Given the description of an element on the screen output the (x, y) to click on. 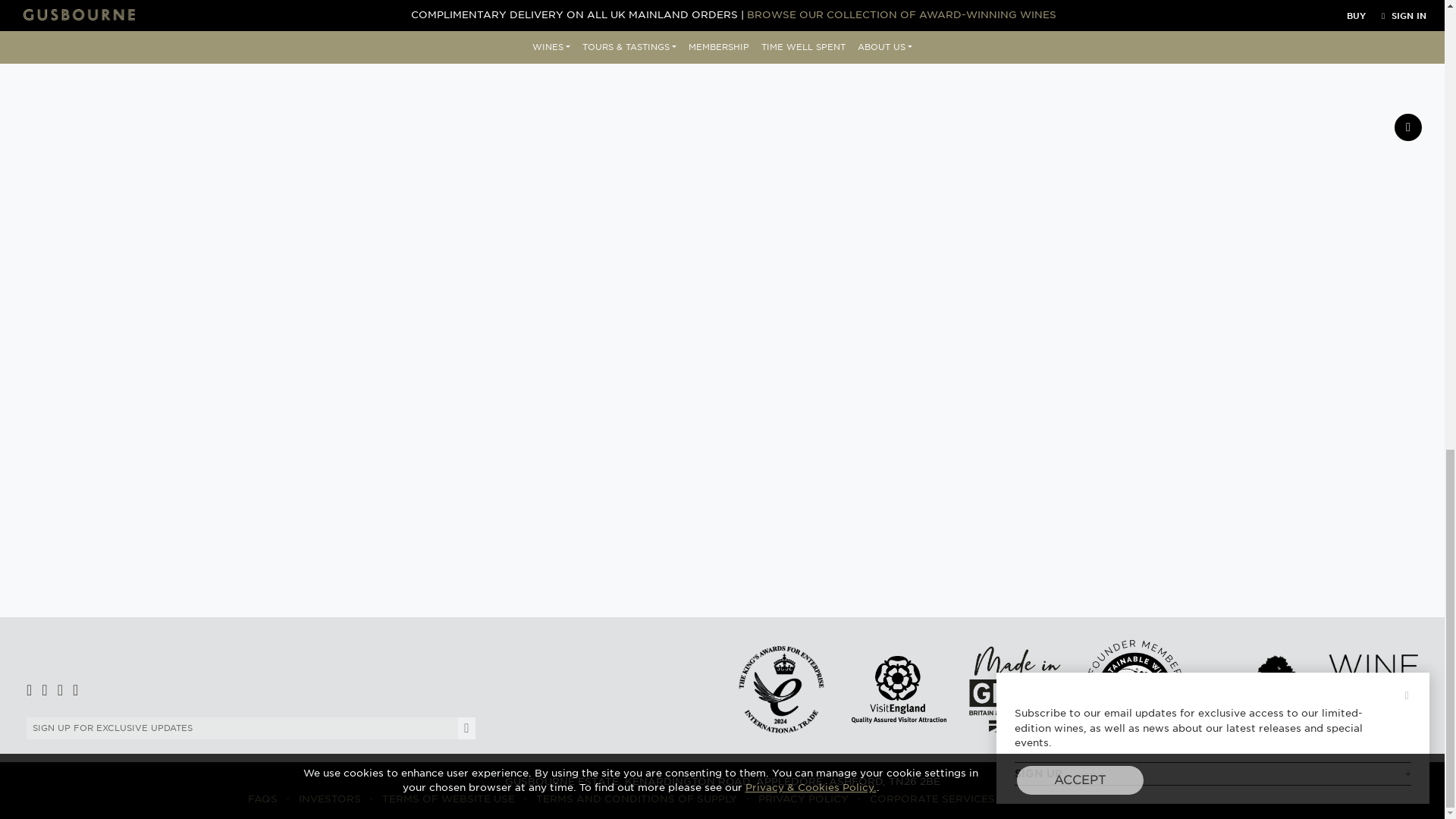
Sustainable Wines of Great Britain (1134, 689)
Visit England (898, 689)
Wine Garden of England (1311, 688)
Made in Great Britain and Northern Ireland (1016, 689)
